Given the description of an element on the screen output the (x, y) to click on. 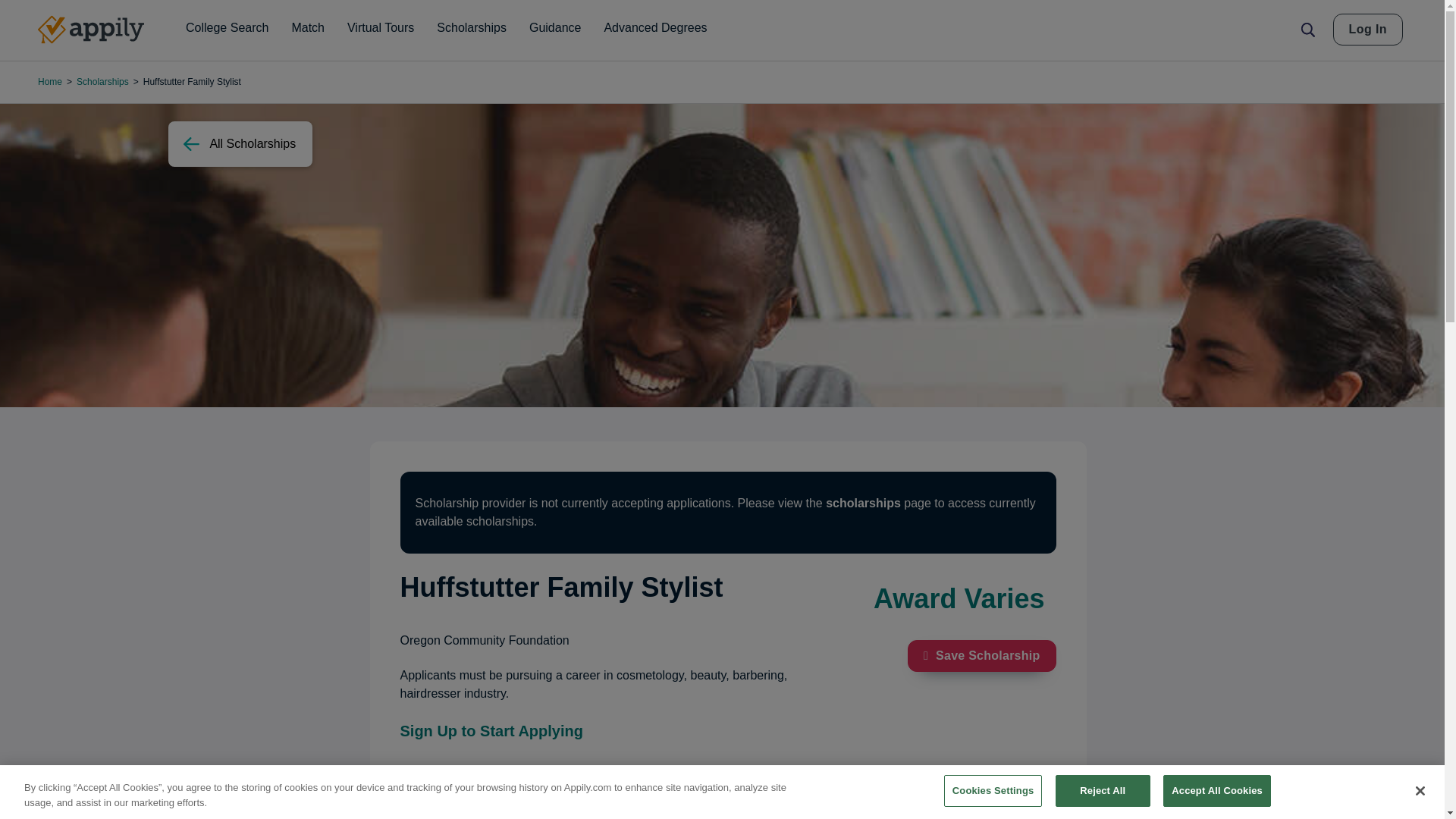
College Search (226, 28)
Home (90, 29)
Match (307, 28)
Virtual Tours (380, 28)
Scholarships (471, 28)
